Given the description of an element on the screen output the (x, y) to click on. 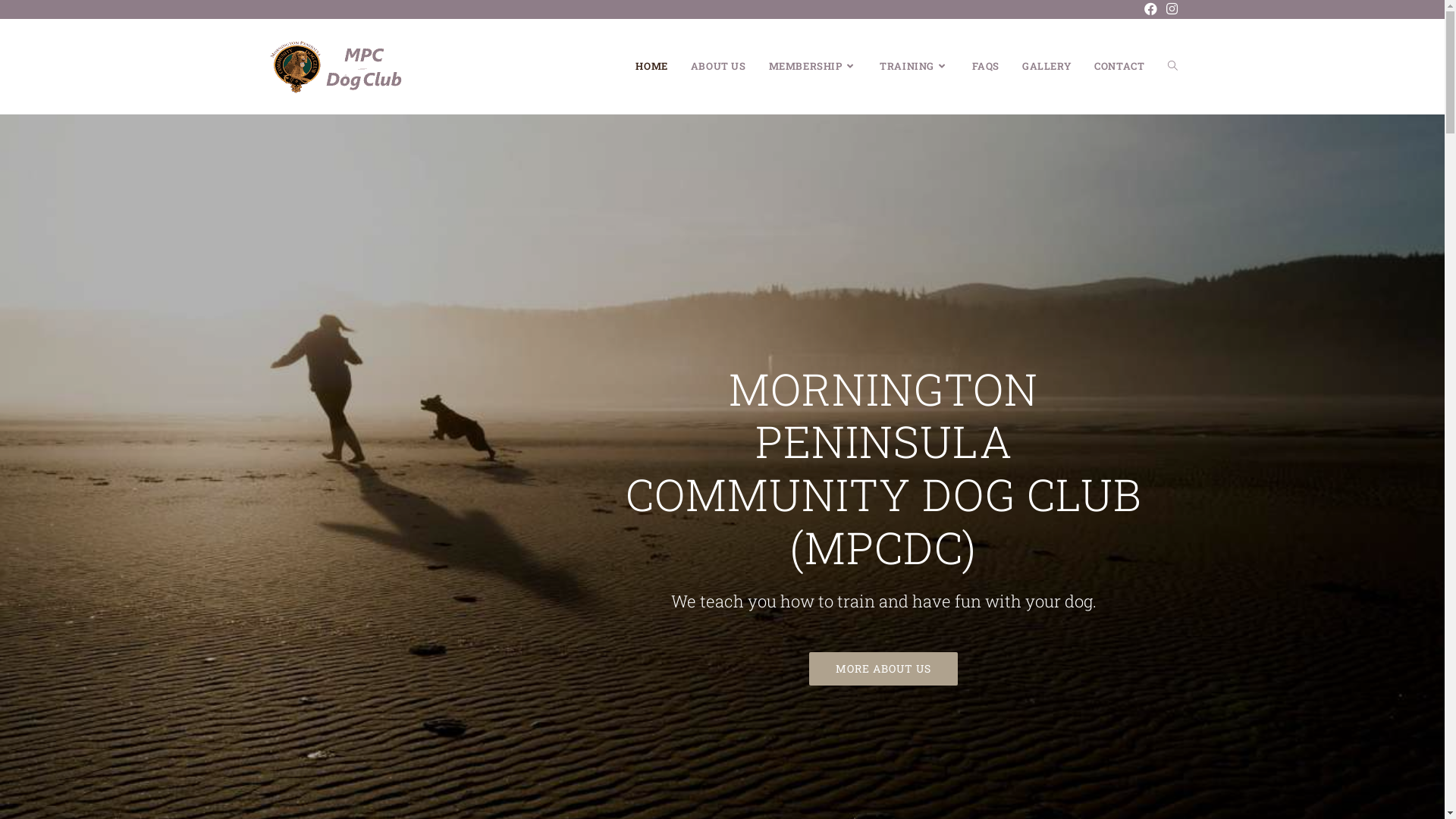
CONTACT Element type: text (1118, 65)
HOME Element type: text (651, 65)
GALLERY Element type: text (1046, 65)
MORE ABOUT US Element type: text (883, 668)
FAQS Element type: text (985, 65)
MEMBERSHIP Element type: text (813, 65)
ABOUT US Element type: text (718, 65)
TRAINING Element type: text (914, 65)
